Given the description of an element on the screen output the (x, y) to click on. 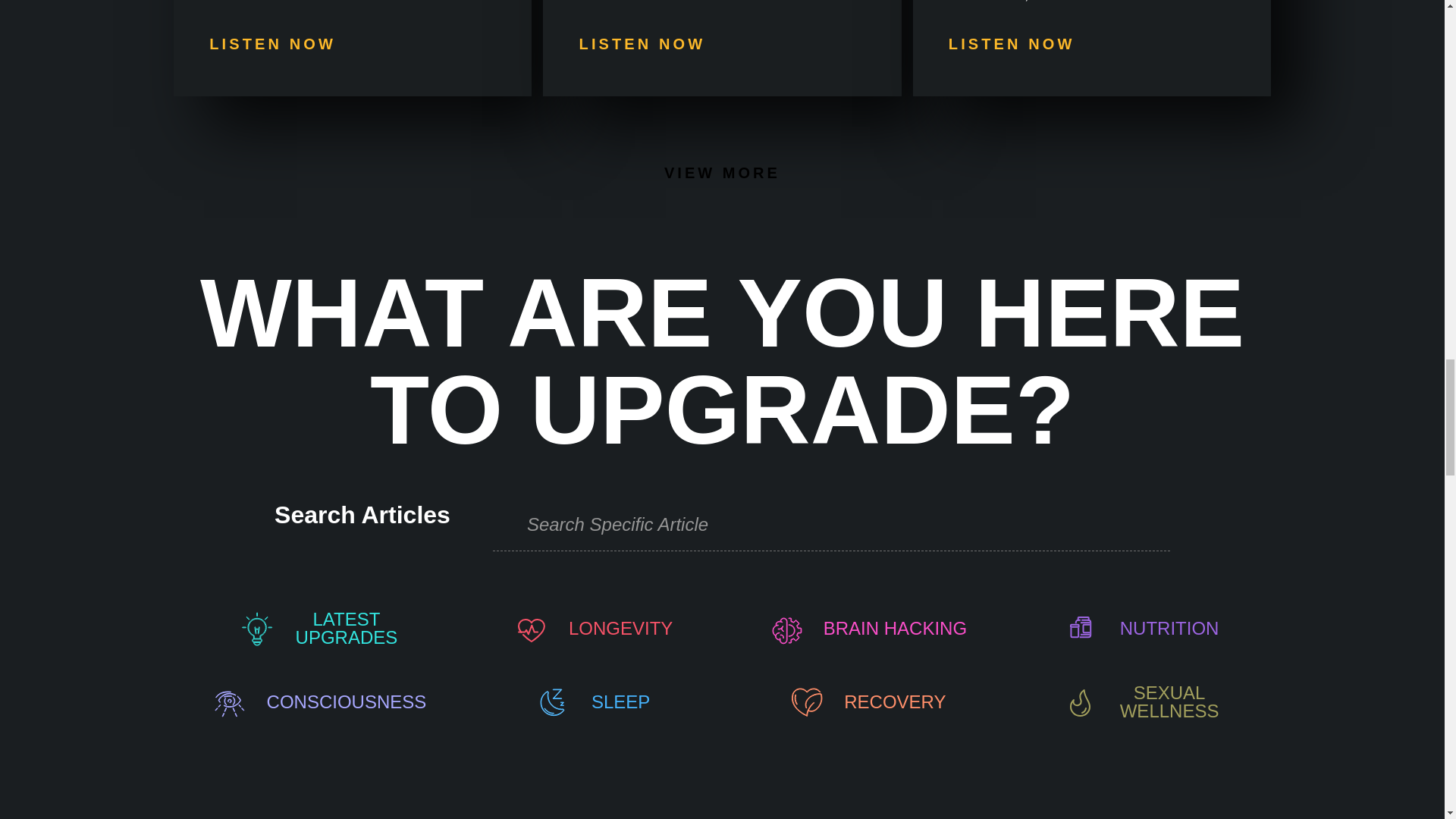
Search (825, 523)
